Given the description of an element on the screen output the (x, y) to click on. 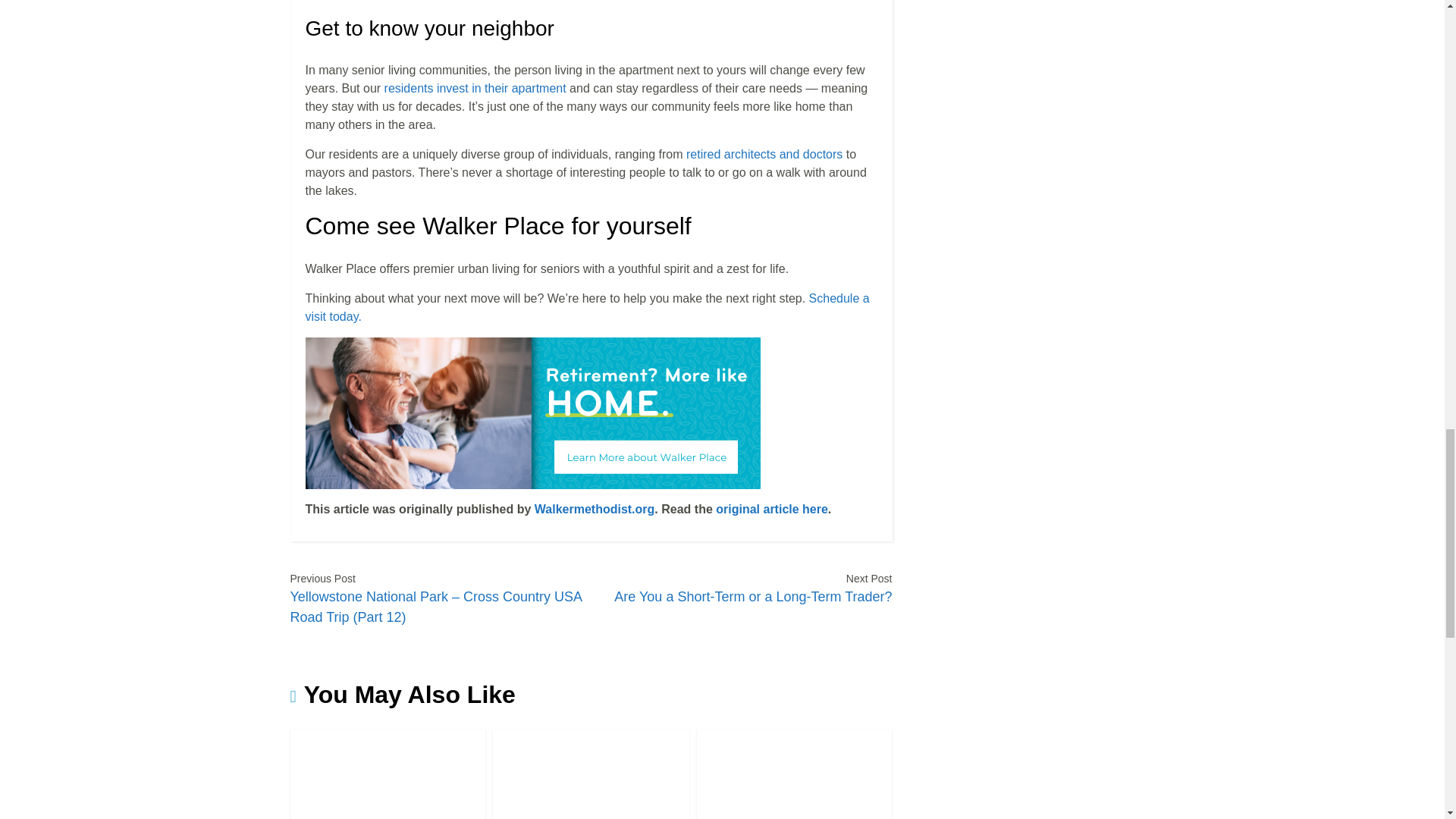
residents invest in their apartment (475, 88)
original article here (772, 508)
Thank You for Voting Us Minnesota's Best! (386, 774)
The Silent Struggle: Tips for Aging with Hearing Loss (591, 774)
Schedule a visit today. (586, 306)
Are You a Short-Term or a Long-Term Trader? (752, 595)
Walkermethodist.org (594, 508)
retired architects and doctors (764, 154)
10 Ways To Make the Senior Living Transition a Little Easier (794, 774)
